Given the description of an element on the screen output the (x, y) to click on. 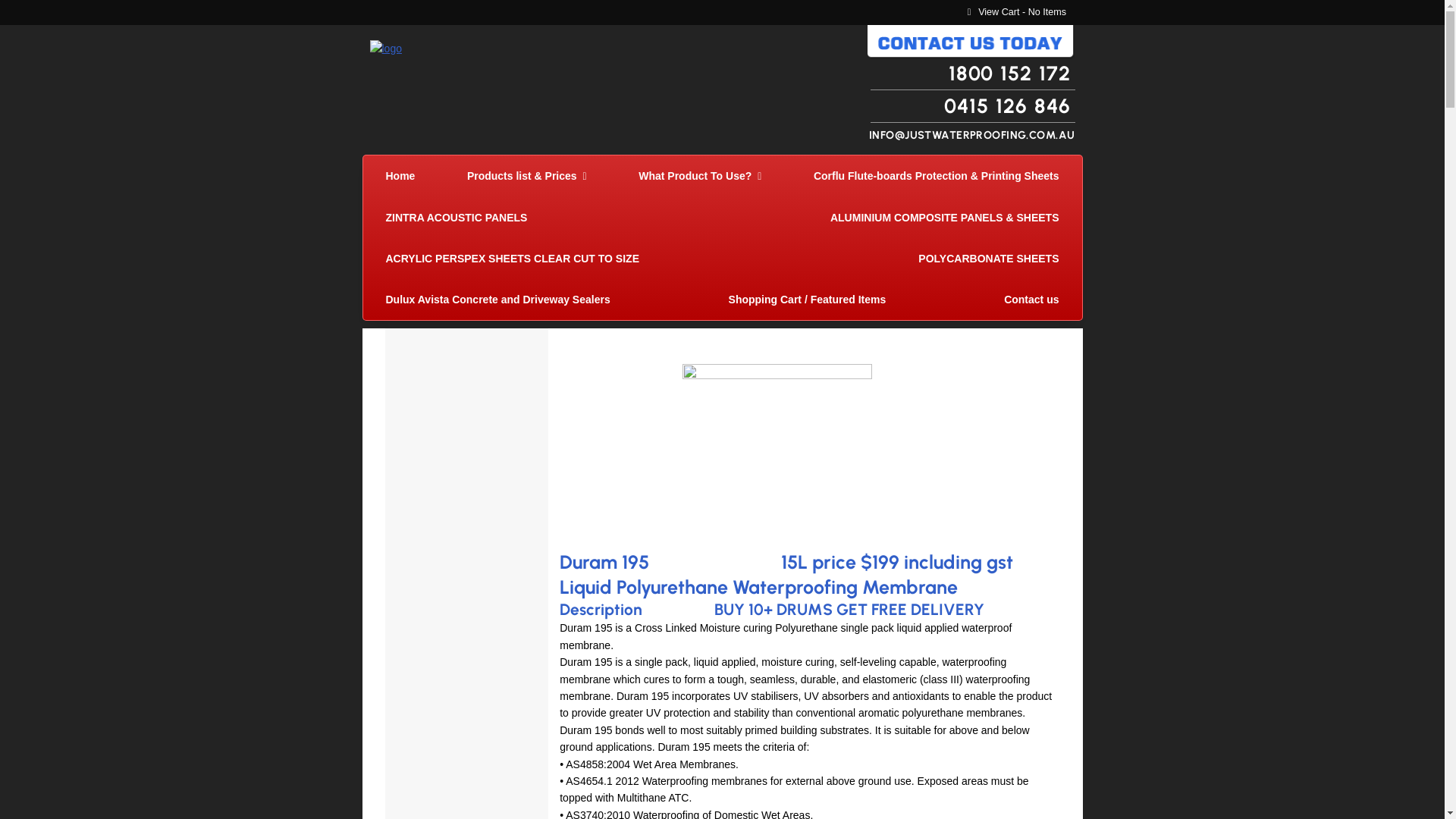
ZINTRA ACOUSTIC PANELS Element type: text (455, 217)
0415 126 846 Element type: text (972, 106)
Contact us Element type: text (1031, 299)
POLYCARBONATE SHEETS Element type: text (988, 258)
ALUMINIUM COMPOSITE PANELS & SHEETS Element type: text (944, 217)
Products list & Prices Element type: text (526, 176)
ACRYLIC PERSPEX SHEETS CLEAR CUT TO SIZE Element type: text (512, 258)
Dulux Avista Concrete and Driveway Sealers Element type: text (497, 299)
What Product To Use? Element type: text (699, 176)
View Cart - No Items Element type: text (1017, 12)
1800 152 172 Element type: text (972, 75)
Corflu Flute-boards Protection & Printing Sheets Element type: text (936, 175)
Home Element type: text (399, 175)
Shopping Cart / Featured Items Element type: text (807, 299)
INFO@JUSTWATERPROOFING.COM.AU Element type: text (972, 134)
